Given the description of an element on the screen output the (x, y) to click on. 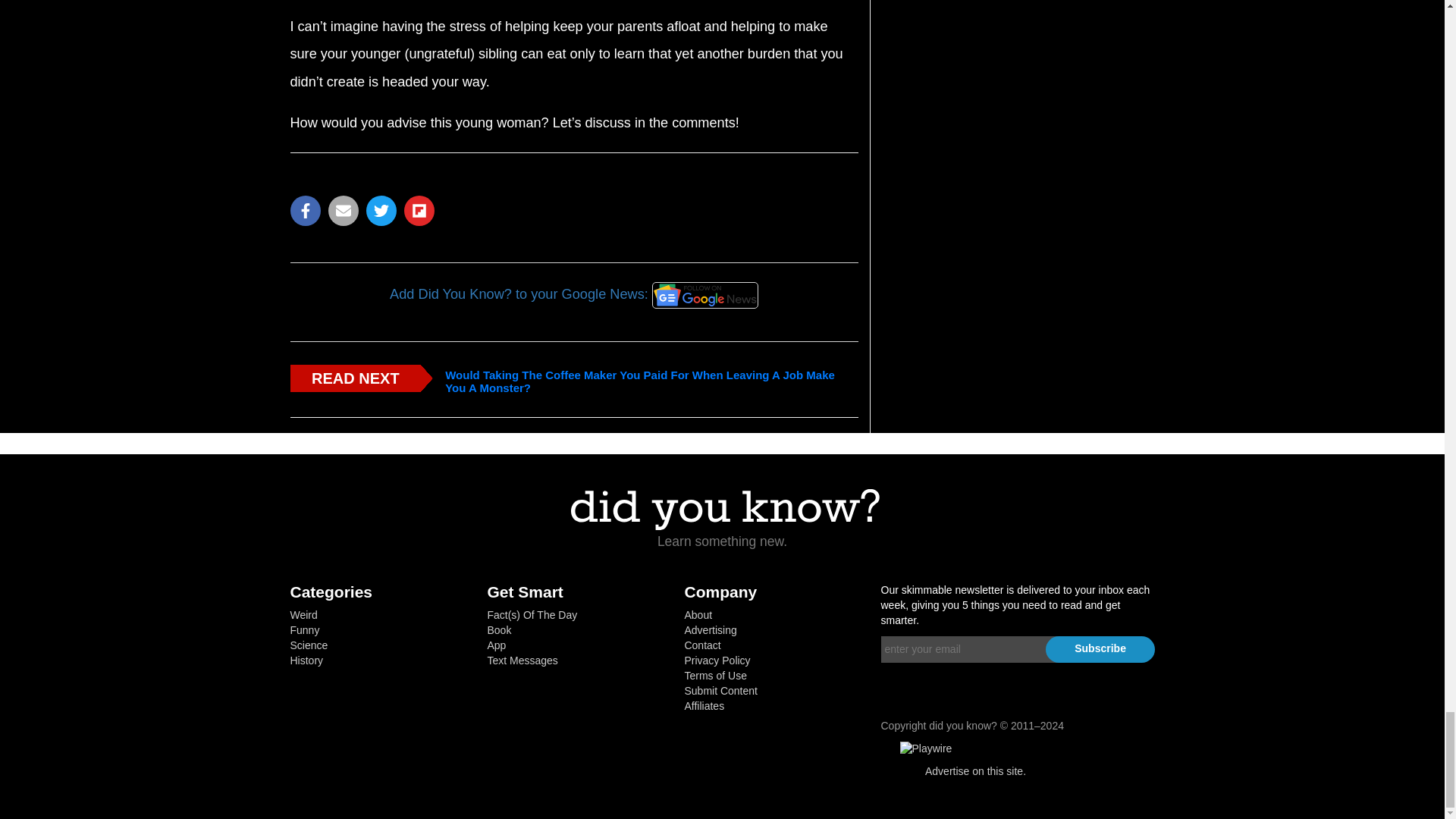
Google News (705, 294)
Subscribe (1100, 649)
